Given the description of an element on the screen output the (x, y) to click on. 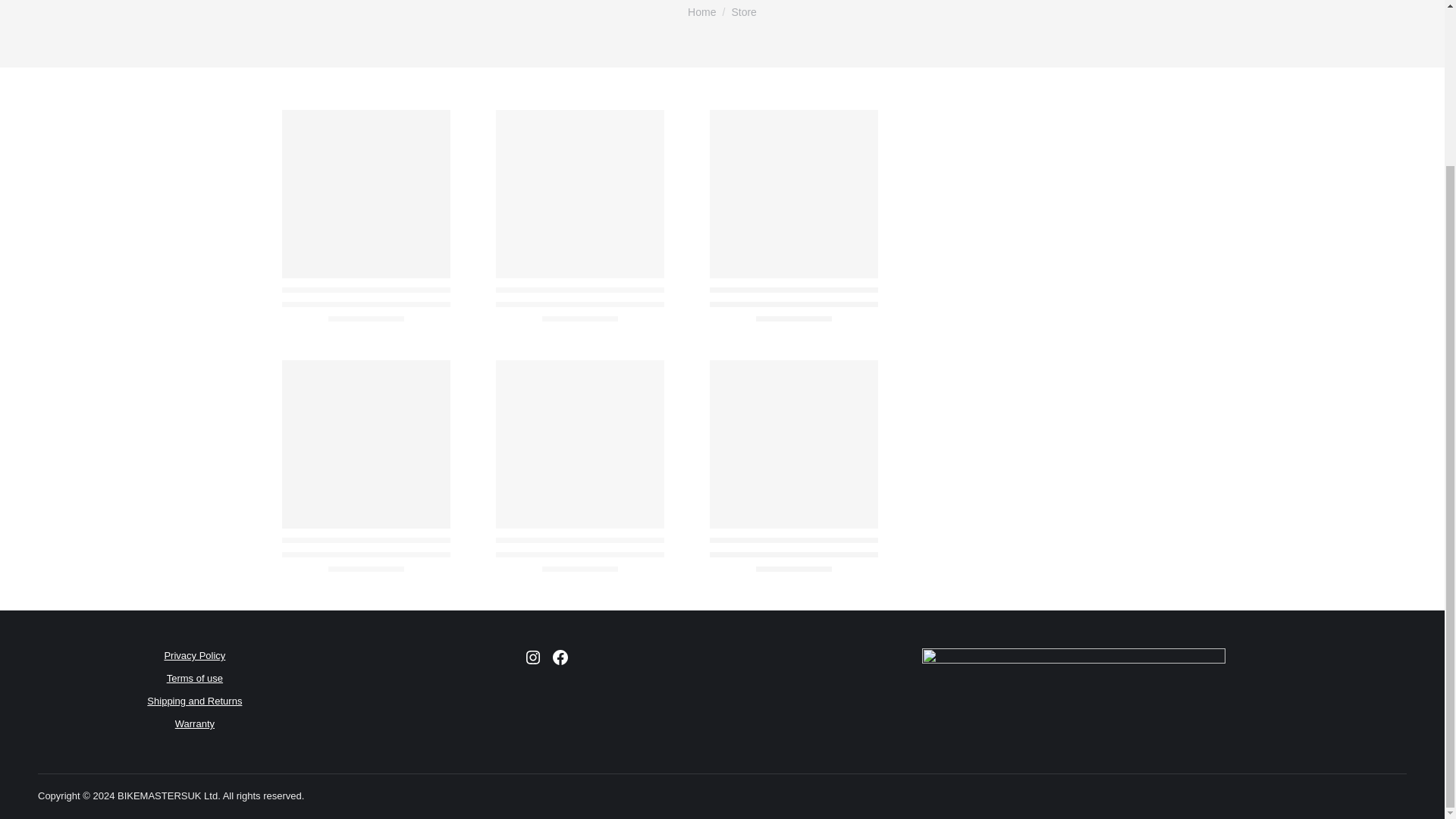
Warranty (194, 723)
Instagram (532, 657)
Home (701, 11)
Terms of use (194, 677)
Shipping and Returns (194, 700)
Facebook (560, 657)
Privacy Policy (194, 655)
